Given the description of an element on the screen output the (x, y) to click on. 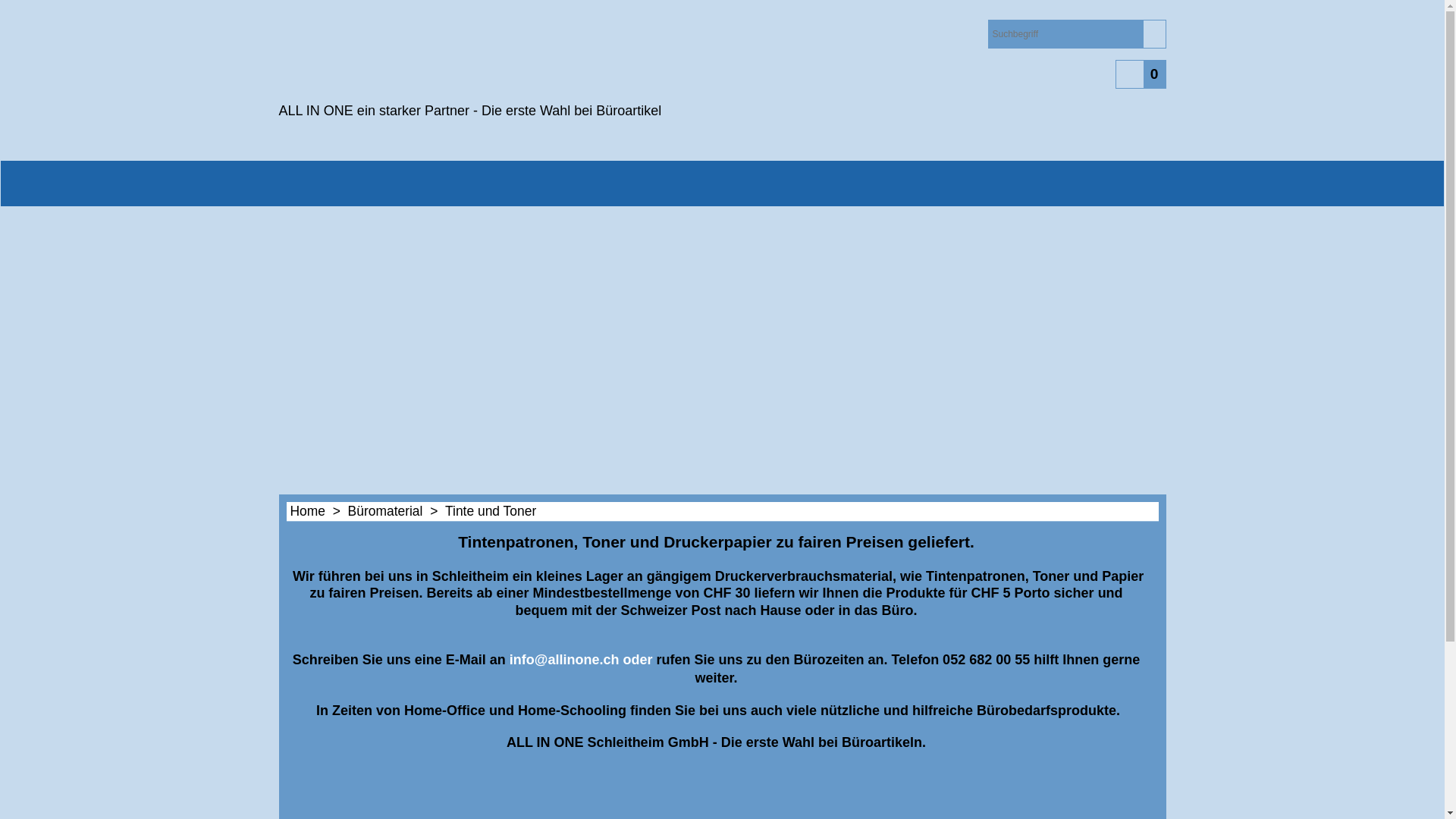
0 Element type: text (1140, 73)
ALL IN ONE Element type: hover (411, 57)
Home  >  Element type: text (318, 510)
